Given the description of an element on the screen output the (x, y) to click on. 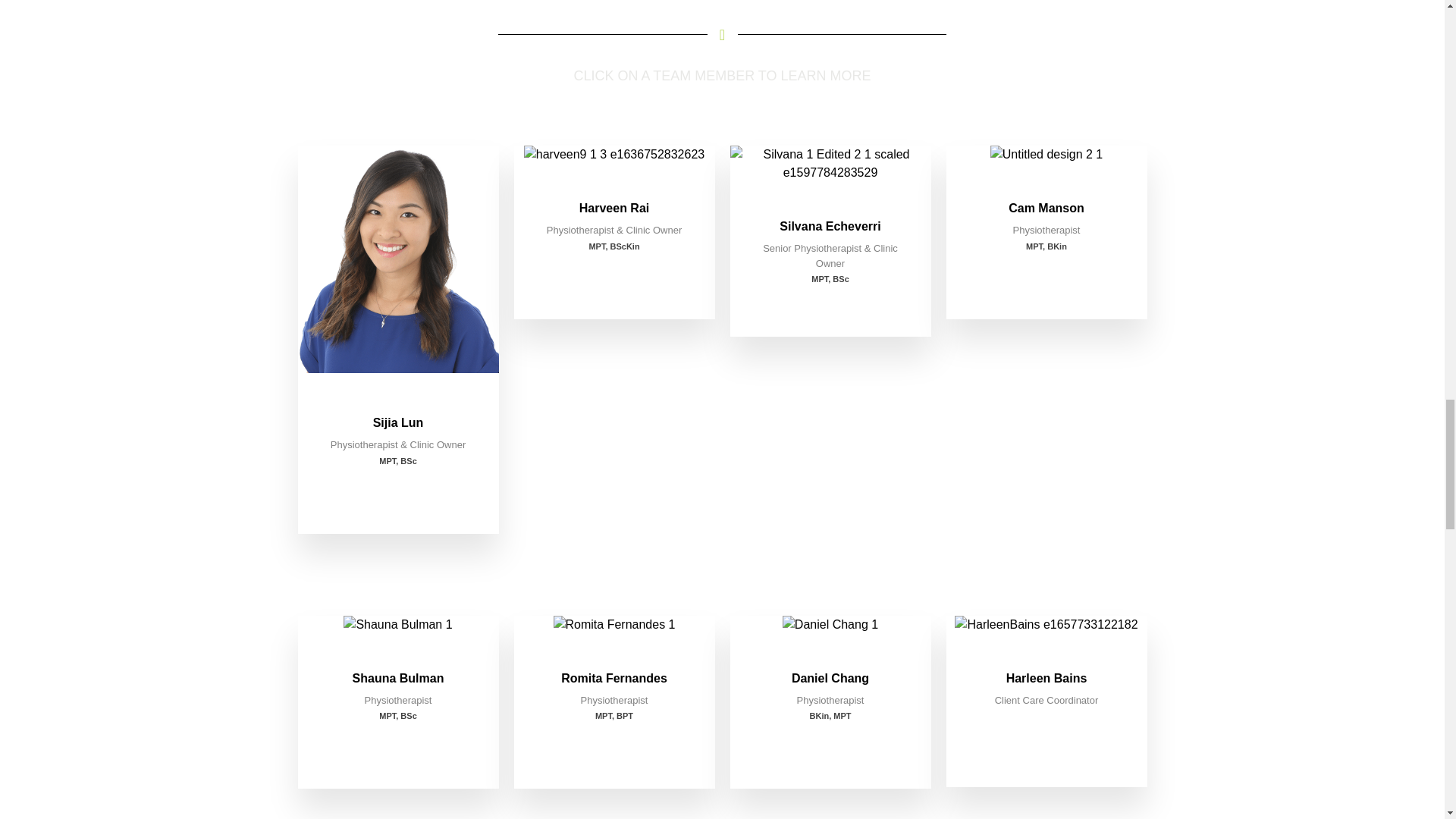
Richmond 3 (614, 154)
Richmond 9 (397, 624)
Richmond 7 (1046, 154)
Richmond 5 (829, 163)
Richmond 15 (1046, 624)
Richmond 13 (830, 624)
Richmond 11 (614, 624)
